Given the description of an element on the screen output the (x, y) to click on. 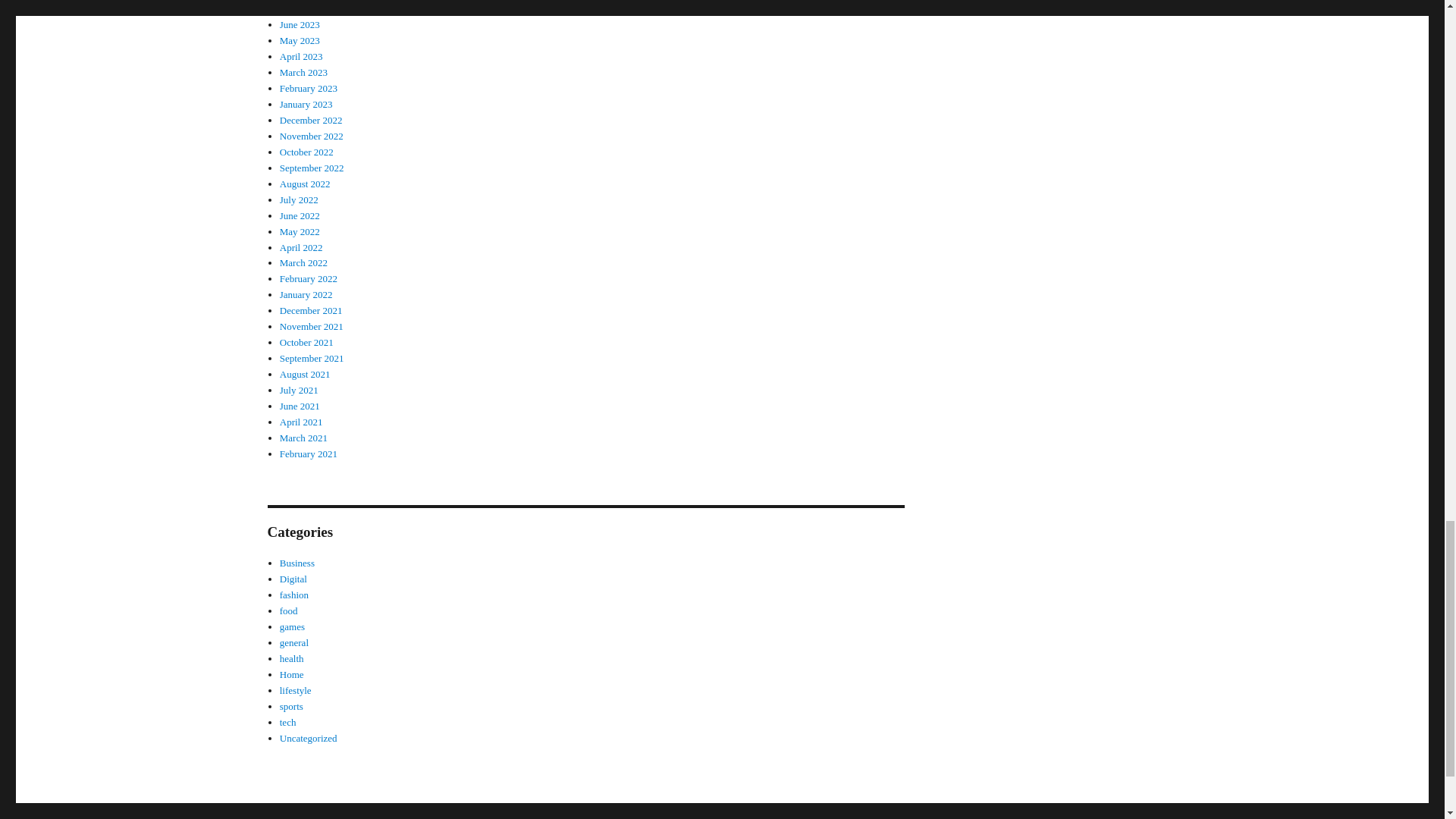
March 2023 (303, 71)
October 2022 (306, 152)
April 2023 (301, 56)
June 2023 (299, 24)
January 2023 (306, 103)
November 2022 (311, 135)
May 2023 (299, 40)
September 2022 (311, 167)
February 2023 (308, 88)
July 2023 (298, 8)
December 2022 (310, 120)
May 2022 (299, 231)
August 2022 (304, 183)
April 2022 (301, 246)
July 2022 (298, 199)
